Given the description of an element on the screen output the (x, y) to click on. 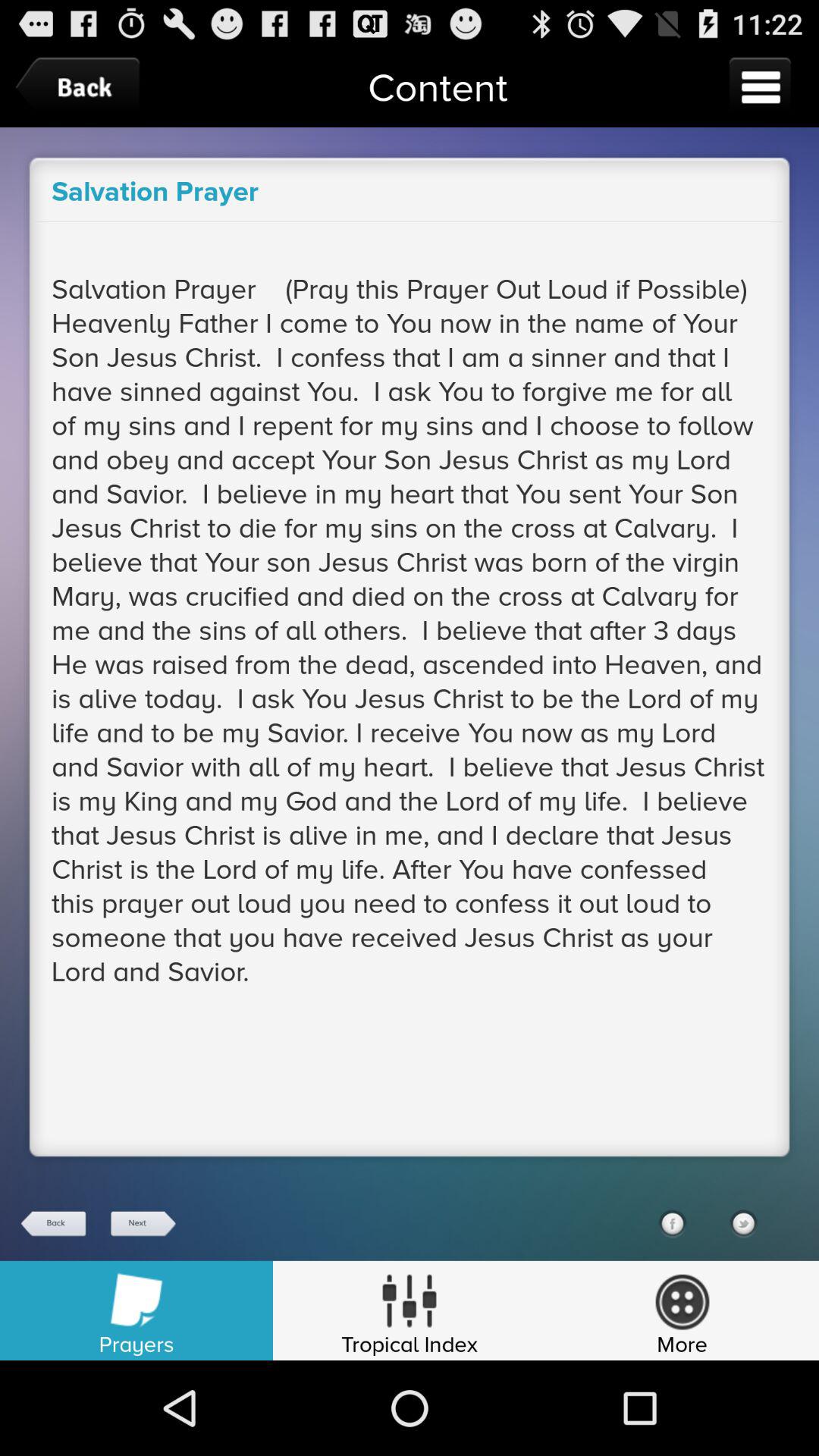
click item above the salvation prayer (81, 87)
